Given the description of an element on the screen output the (x, y) to click on. 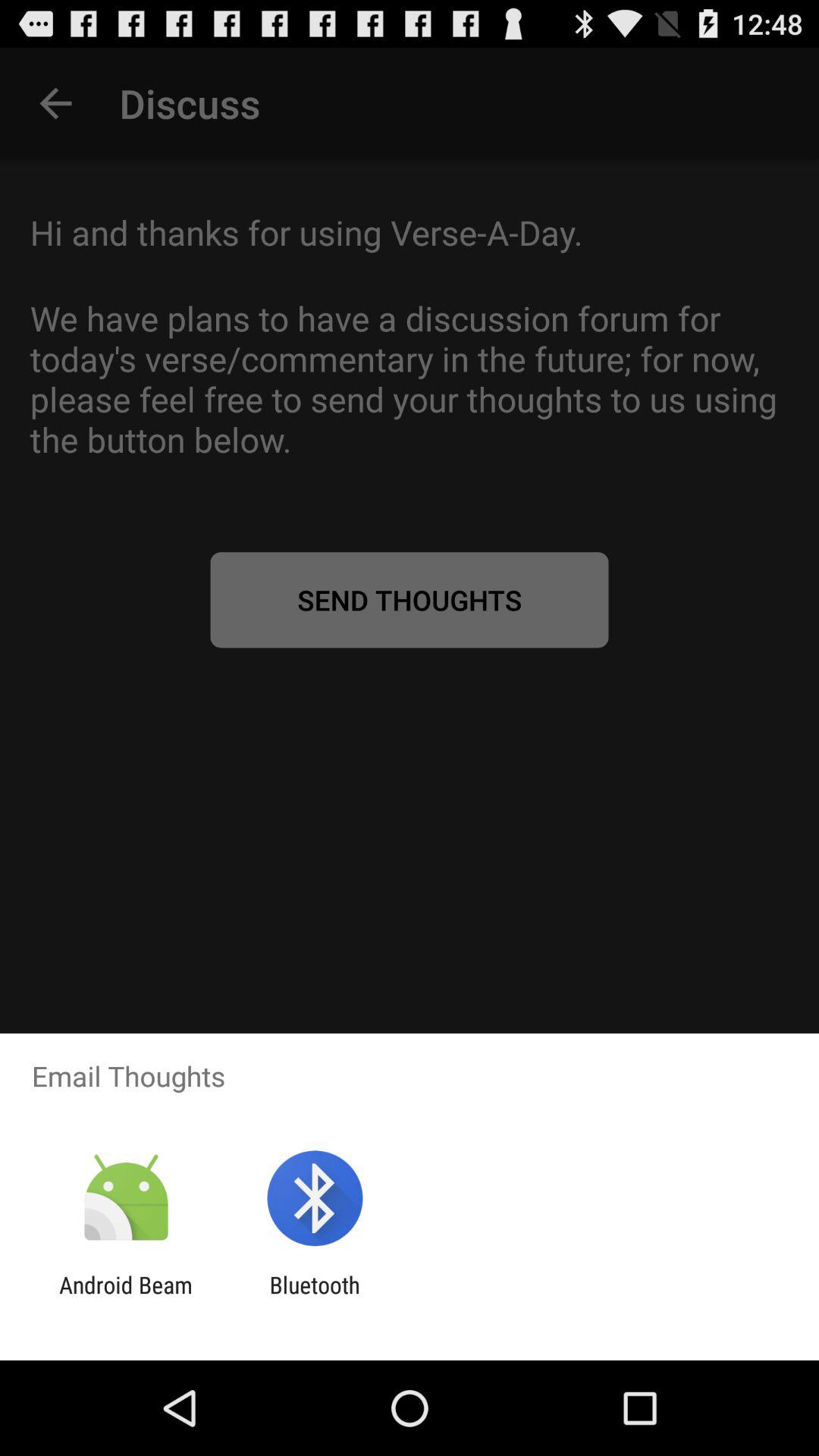
click icon next to the bluetooth icon (125, 1298)
